Given the description of an element on the screen output the (x, y) to click on. 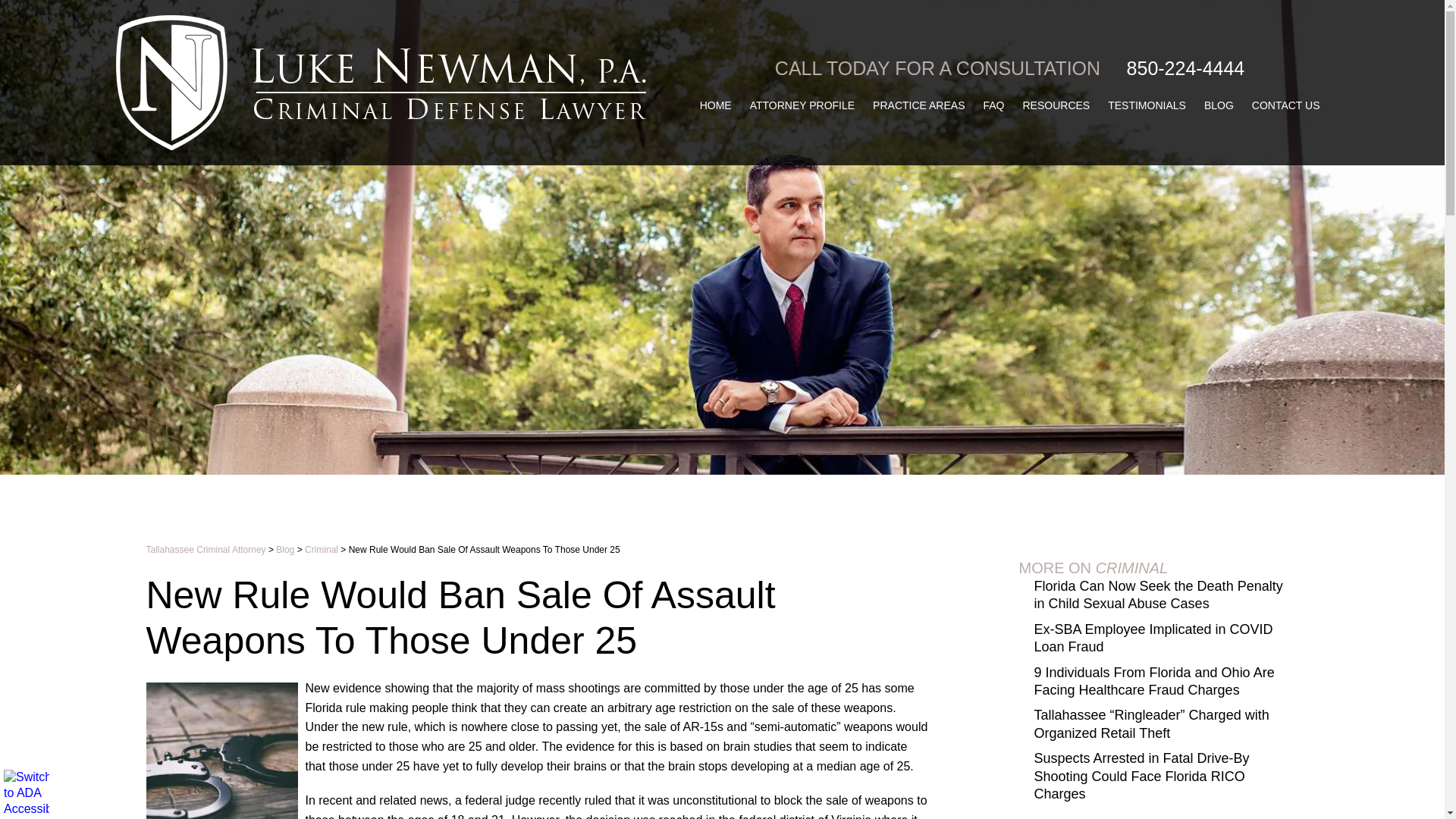
850-224-4444 (1185, 68)
PRACTICE AREAS (918, 104)
ATTORNEY PROFILE (802, 104)
HOME (715, 104)
Handcuffs4 (221, 750)
CONTACT US (1286, 104)
BLOG (1219, 104)
Switch to ADA Accessible Theme (26, 791)
FAQ (993, 104)
TESTIMONIALS (1147, 104)
